Given the description of an element on the screen output the (x, y) to click on. 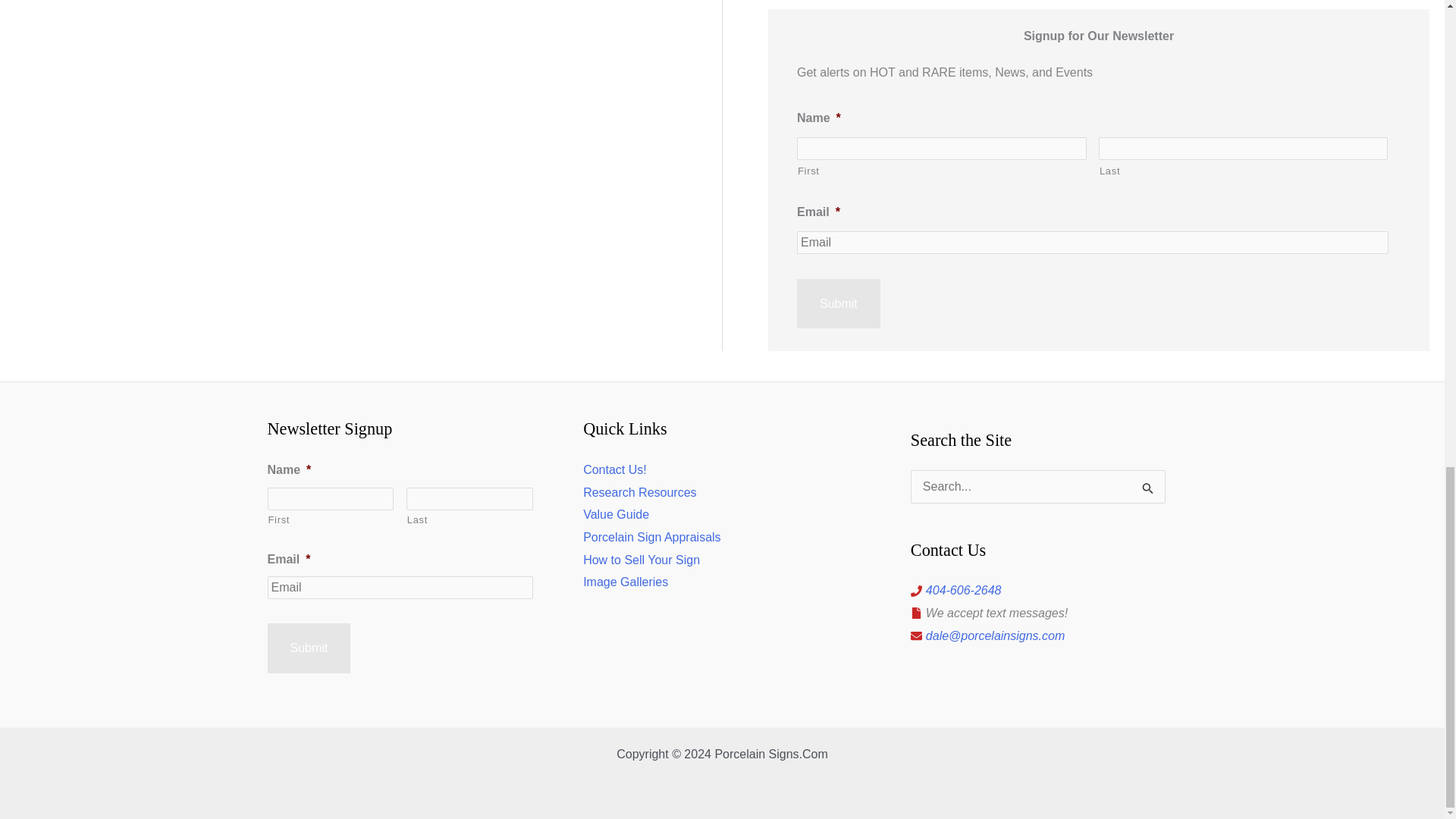
Submit (838, 304)
Submit (308, 648)
